Given the description of an element on the screen output the (x, y) to click on. 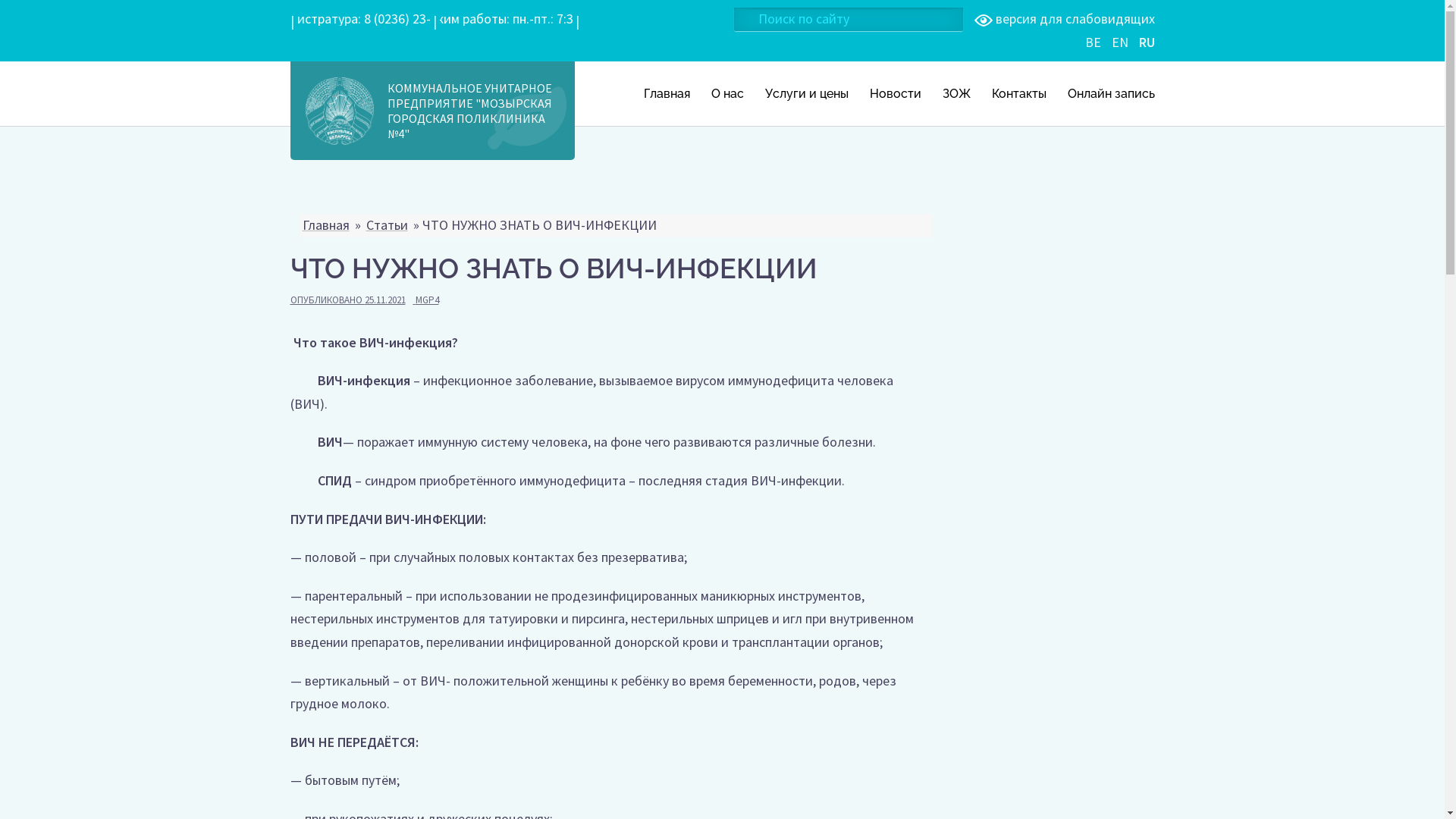
RU Element type: text (1146, 41)
MGP4 Element type: text (427, 299)
BE Element type: text (1092, 41)
EN Element type: text (1119, 41)
25.11.2021 Element type: text (384, 299)
